Given the description of an element on the screen output the (x, y) to click on. 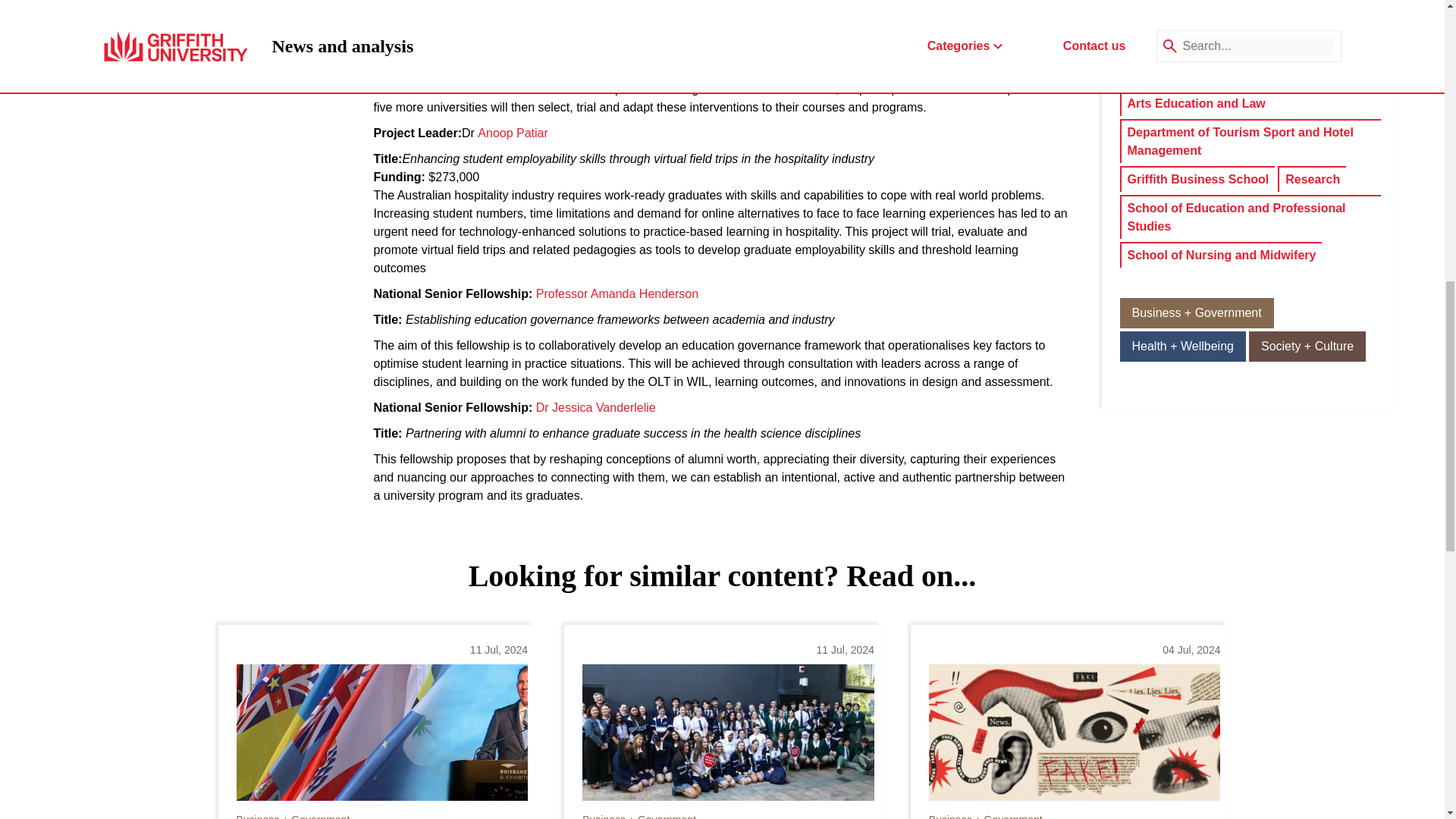
Anoop Patiar (512, 133)
Professor Stephen Billett (528, 9)
Dr Jessica Vanderlelie (595, 407)
Professor Amanda Henderson (616, 294)
